Given the description of an element on the screen output the (x, y) to click on. 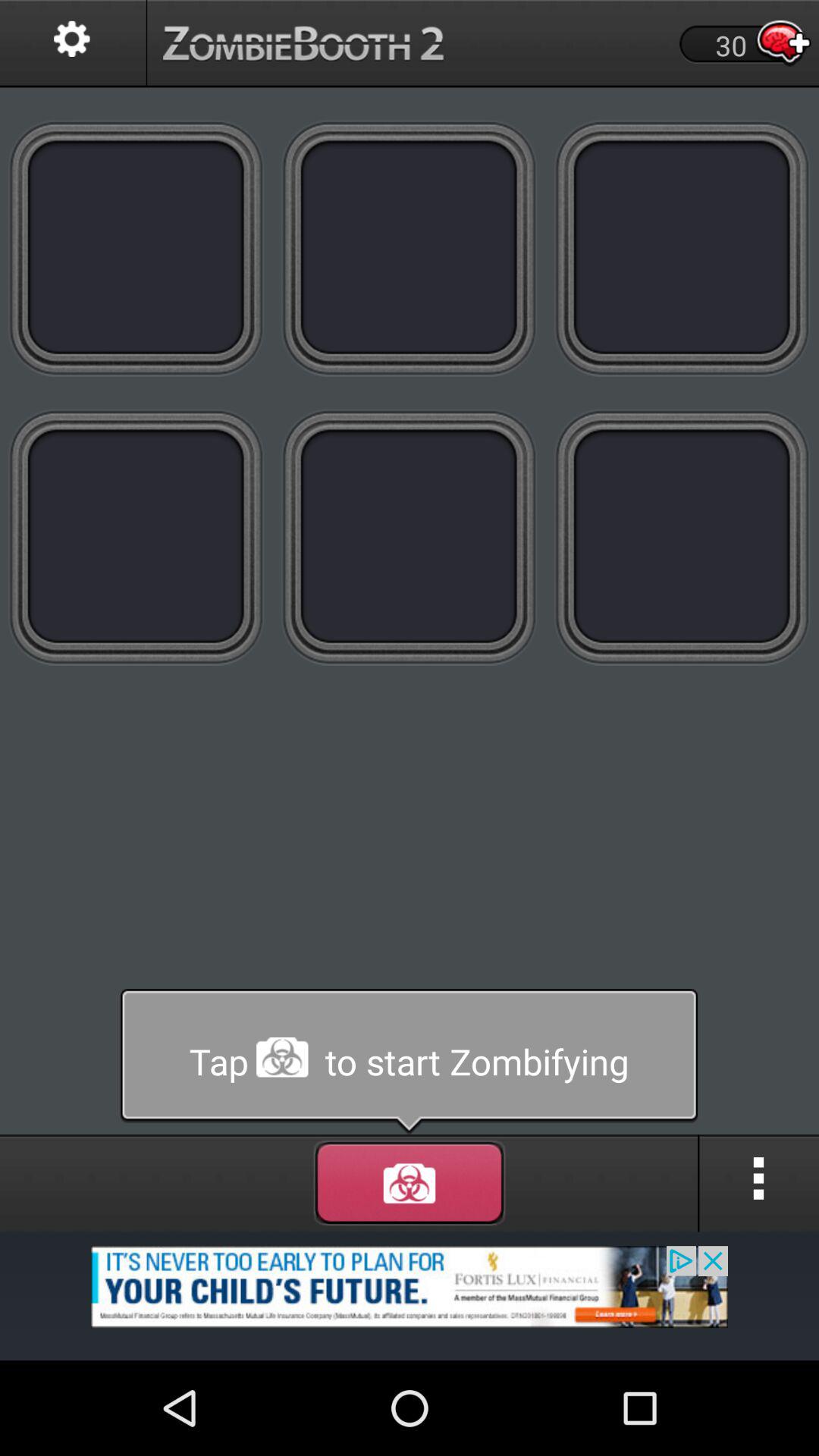
start (409, 1182)
